Given the description of an element on the screen output the (x, y) to click on. 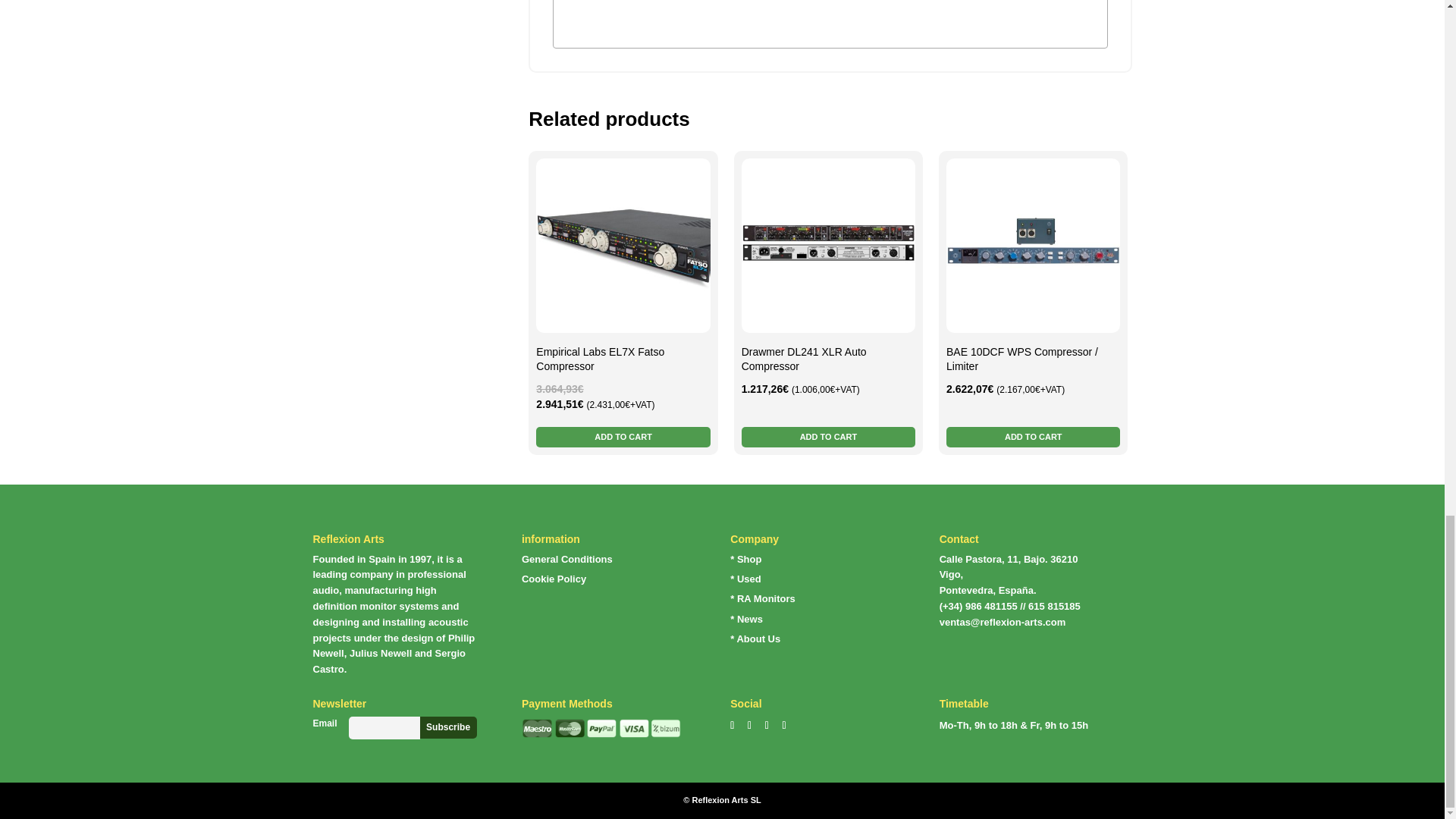
YouTube video player (829, 23)
Subscribe (448, 727)
